Given the description of an element on the screen output the (x, y) to click on. 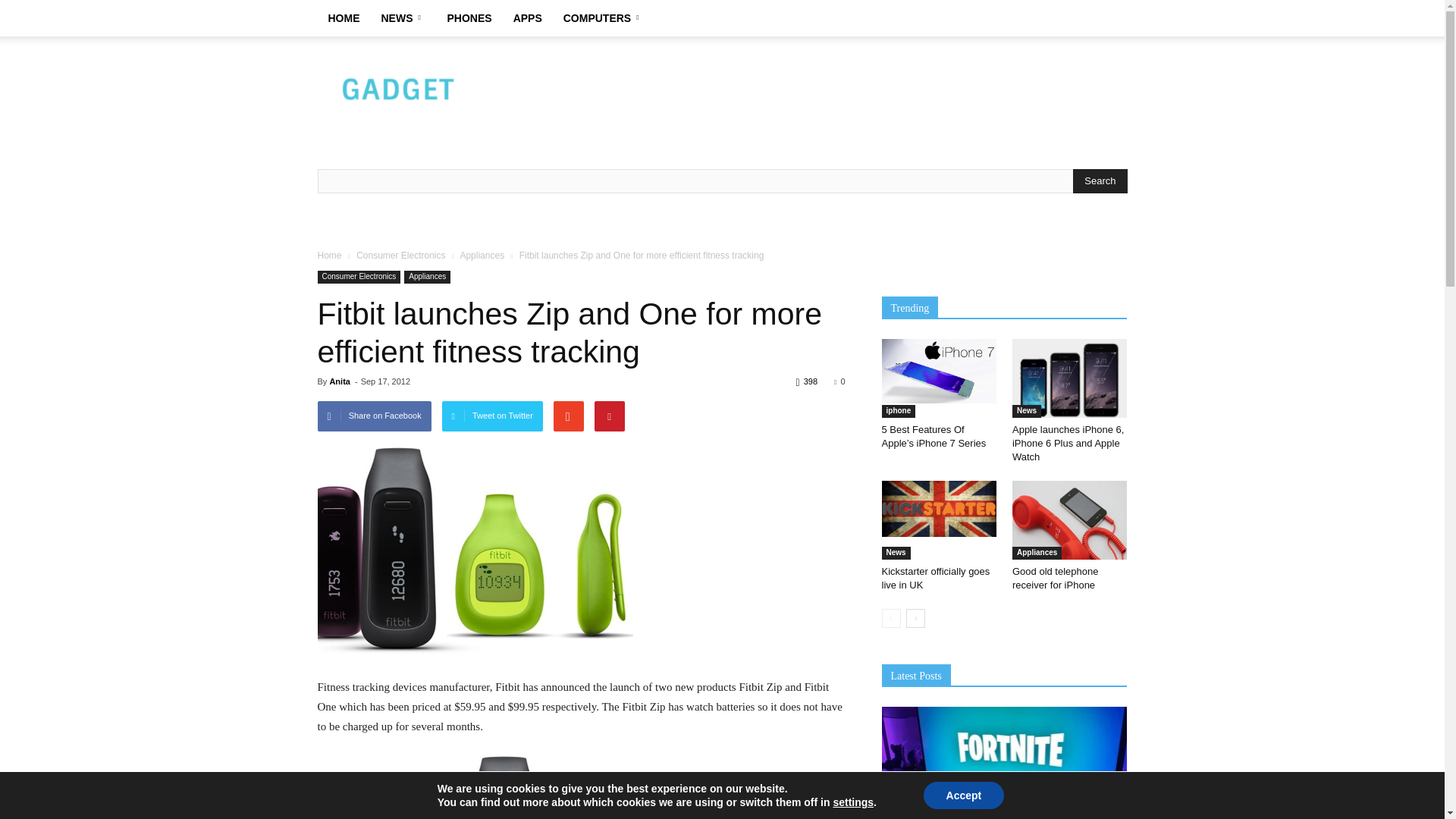
PHONES (469, 18)
APPS (527, 18)
COMPUTERS (603, 18)
HOME (343, 18)
Search (1099, 180)
NEWS (402, 18)
